Given the description of an element on the screen output the (x, y) to click on. 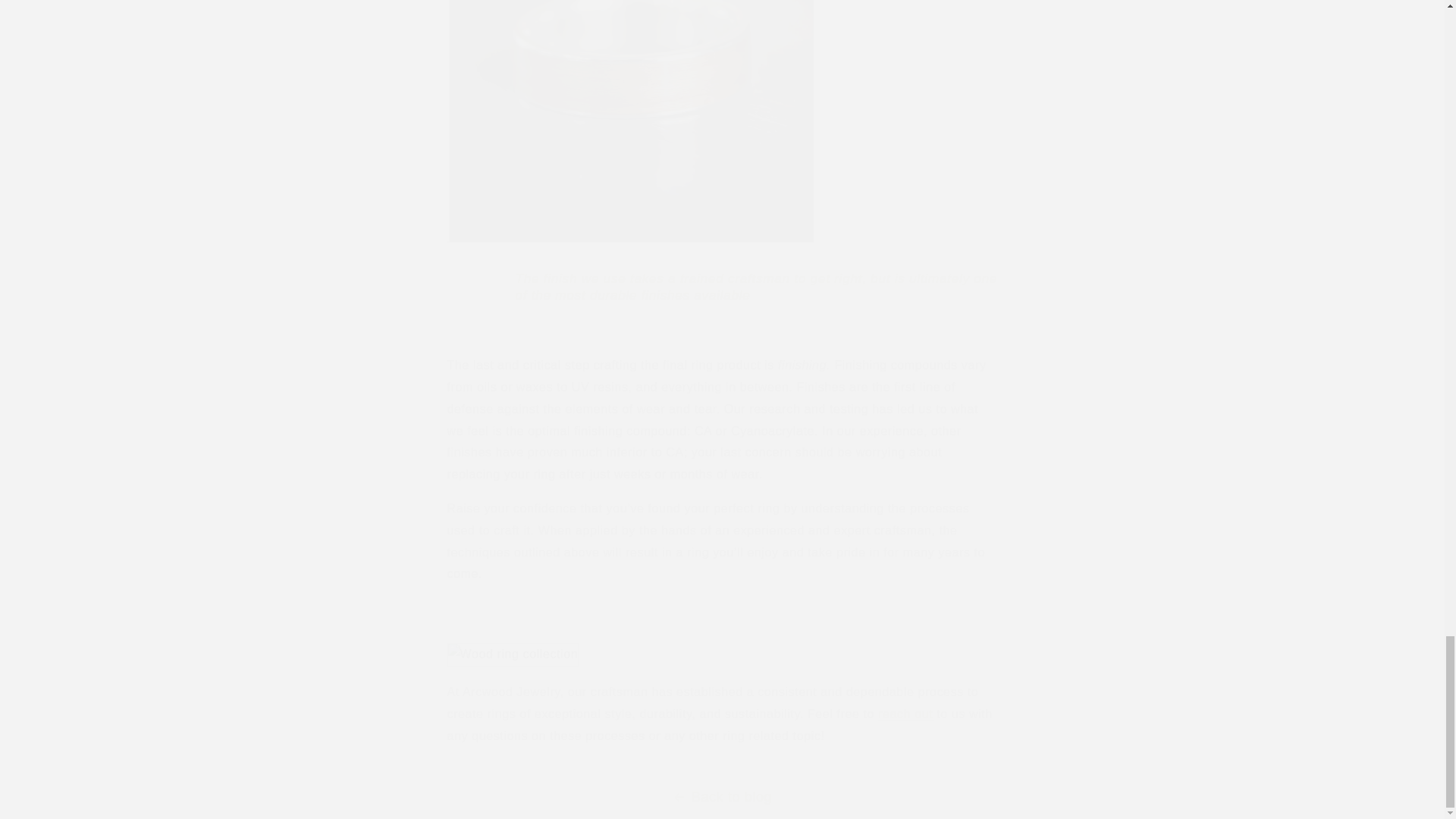
arcwood jewelry contact page  (905, 713)
The Cosmopolitan wooden ring (630, 241)
